Given the description of an element on the screen output the (x, y) to click on. 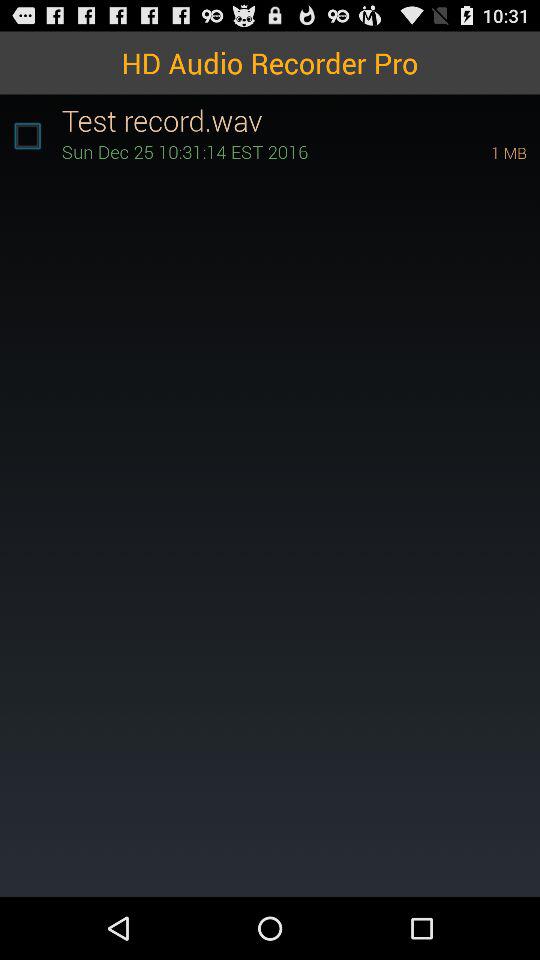
launch 1 mb icon (481, 152)
